Given the description of an element on the screen output the (x, y) to click on. 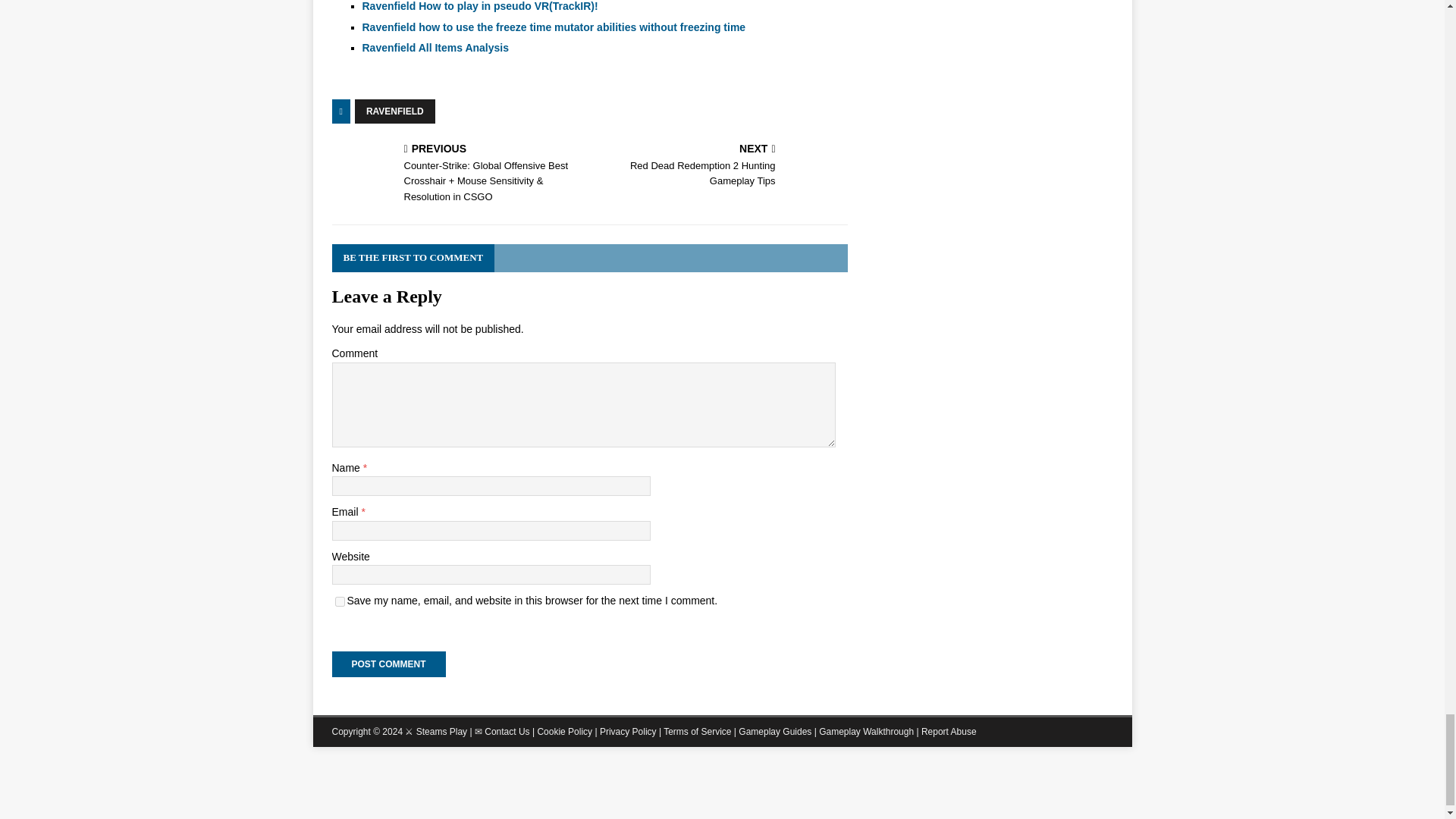
Post Comment (388, 664)
yes (339, 601)
